Given the description of an element on the screen output the (x, y) to click on. 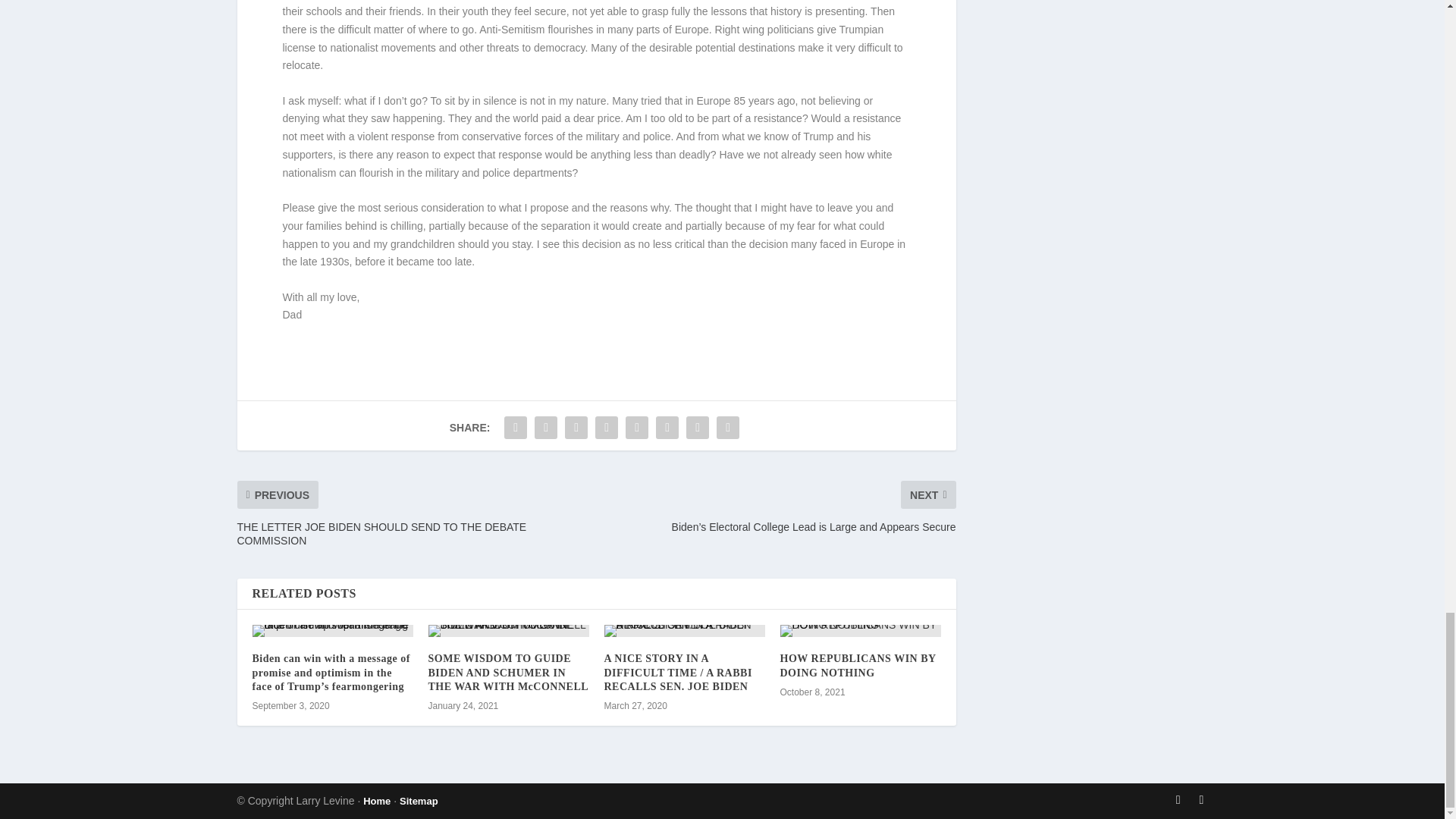
Share "THE FEARS OF AN AMERICAN FATHER" via Pinterest (606, 427)
Share "THE FEARS OF AN AMERICAN FATHER" via Tumblr (575, 427)
Share "THE FEARS OF AN AMERICAN FATHER" via Facebook (515, 427)
HOW REPUBLICANS WIN BY DOING NOTHING (859, 630)
Share "THE FEARS OF AN AMERICAN FATHER" via Twitter (545, 427)
Share "THE FEARS OF AN AMERICAN FATHER" via Buffer (667, 427)
Sitemap (418, 800)
HOW REPUBLICANS WIN BY DOING NOTHING (857, 665)
Share "THE FEARS OF AN AMERICAN FATHER" via Email (727, 427)
Share "THE FEARS OF AN AMERICAN FATHER" via Stumbleupon (697, 427)
Share "THE FEARS OF AN AMERICAN FATHER" via LinkedIn (636, 427)
Home (376, 800)
